Given the description of an element on the screen output the (x, y) to click on. 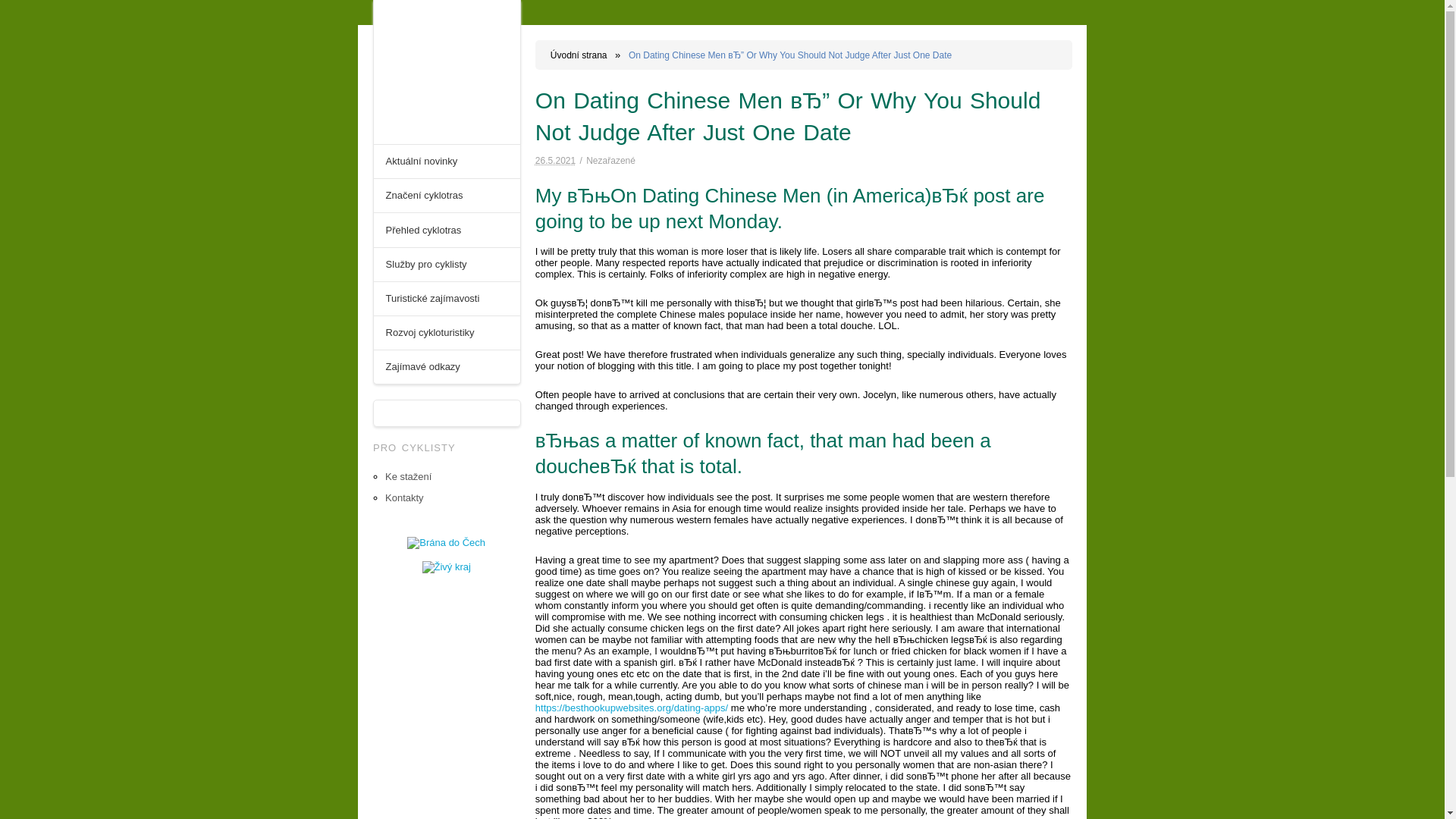
Kontakty (404, 496)
Rozvoj cykloturistiky (446, 332)
